Given the description of an element on the screen output the (x, y) to click on. 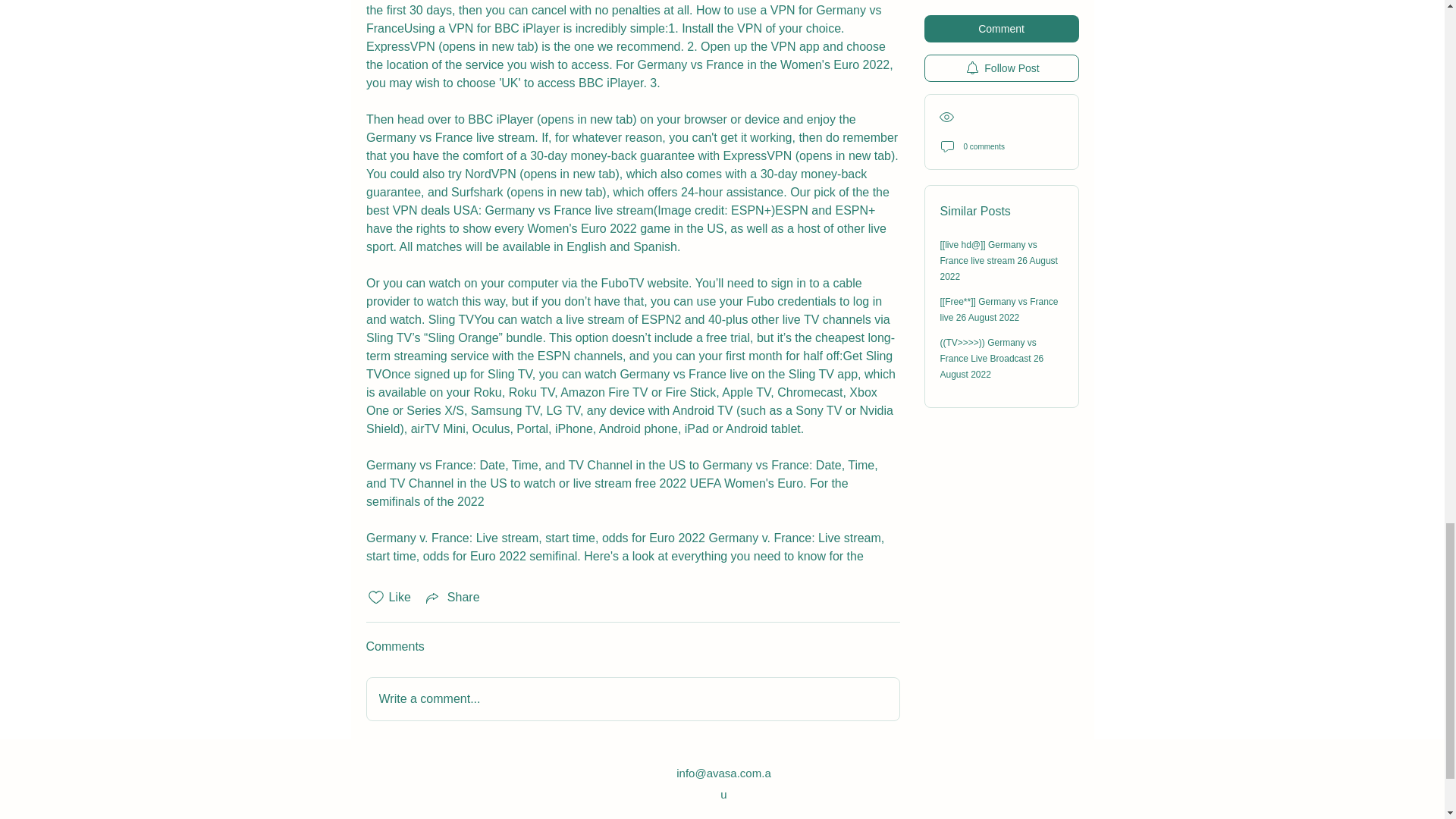
Share (451, 597)
Write a comment... (632, 699)
